Given the description of an element on the screen output the (x, y) to click on. 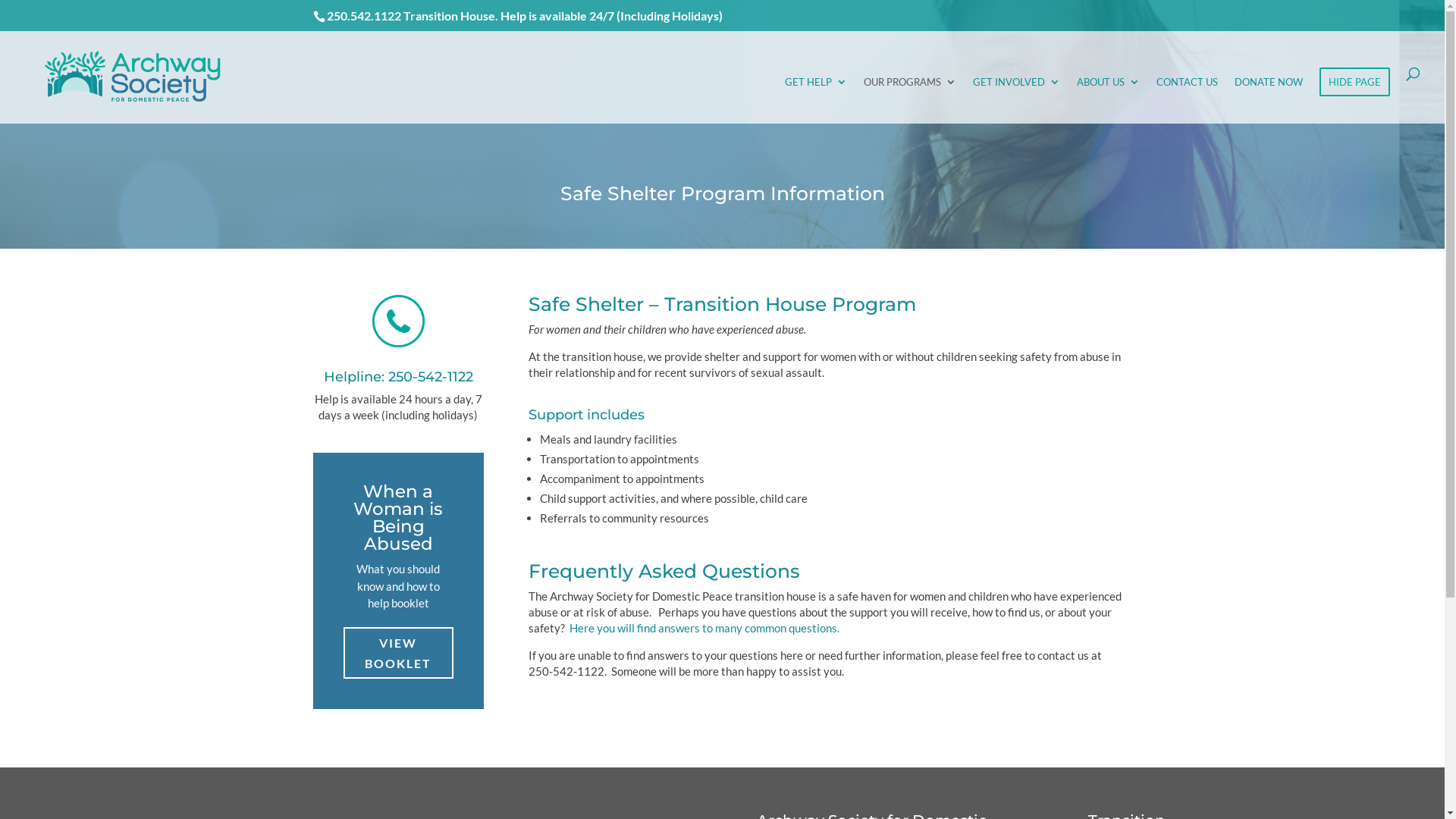
GET INVOLVED Element type: text (1016, 99)
Here you will find answers to many common questions. Element type: text (704, 627)
VIEW BOOKLET Element type: text (397, 652)
What you should know and how to help Element type: text (397, 585)
CONTACT US Element type: text (1186, 99)
OUR PROGRAMS Element type: text (909, 99)
DONATE NOW Element type: text (1268, 99)
HIDE PAGE Element type: text (1354, 81)
ABOUT US Element type: text (1107, 99)
GET HELP Element type: text (815, 99)
